Given the description of an element on the screen output the (x, y) to click on. 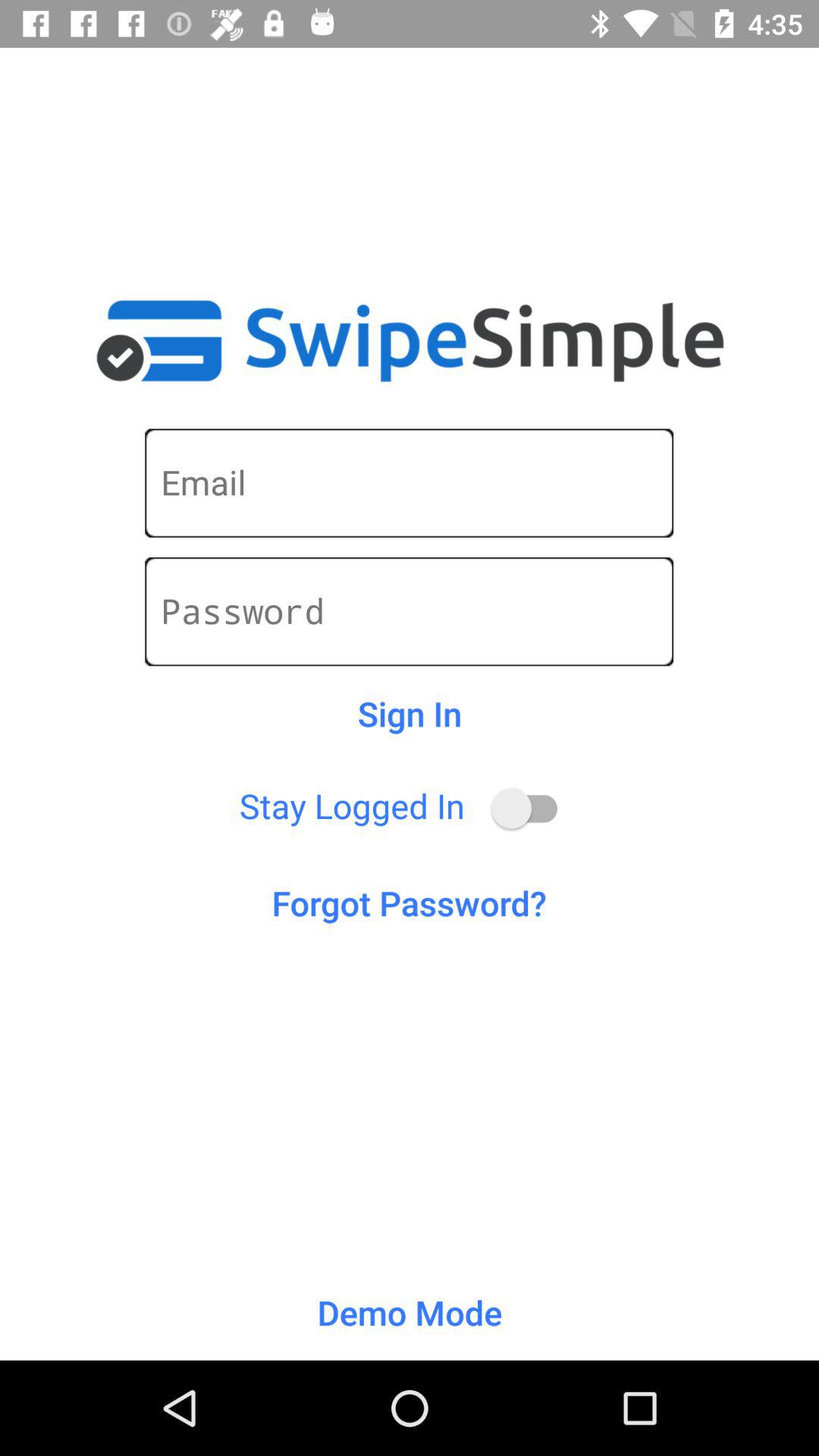
enter email information (409, 482)
